Given the description of an element on the screen output the (x, y) to click on. 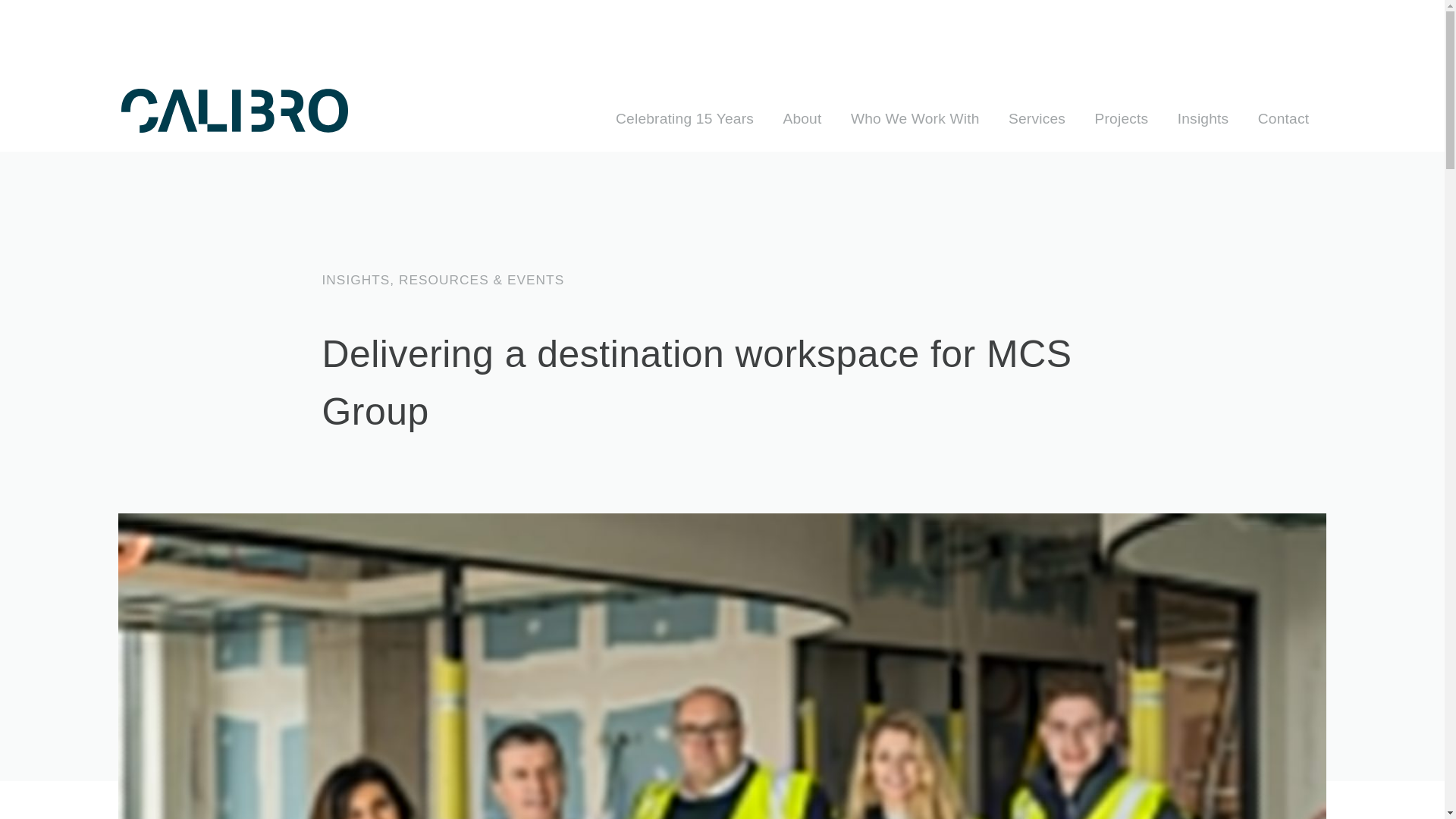
Who We Work With (914, 119)
Insights (1202, 119)
Services (1037, 119)
About (802, 119)
Projects (1121, 119)
Contact (1282, 119)
Celebrating 15 Years (684, 119)
